Given the description of an element on the screen output the (x, y) to click on. 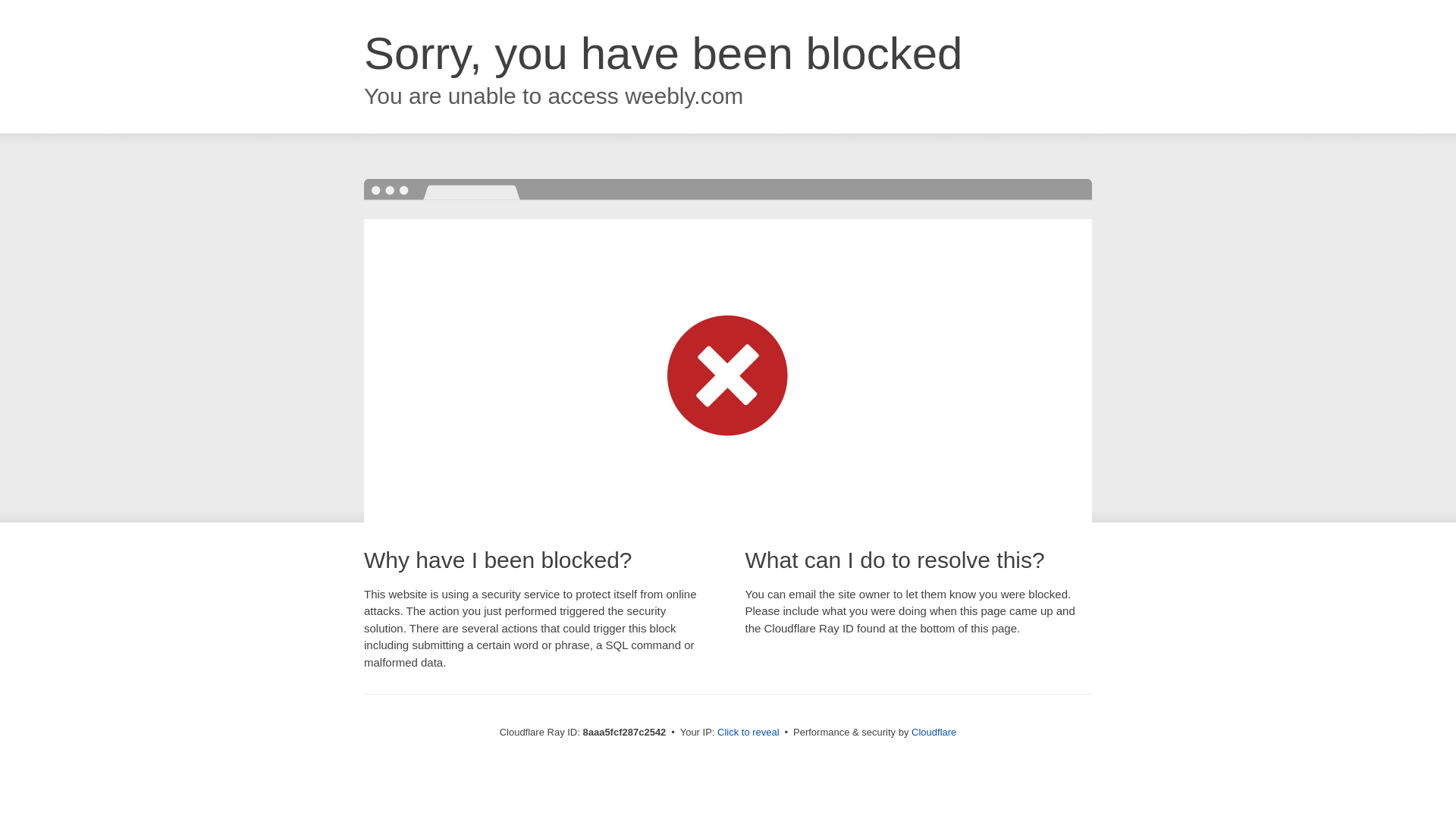
Click to reveal (747, 732)
Cloudflare (933, 731)
